Given the description of an element on the screen output the (x, y) to click on. 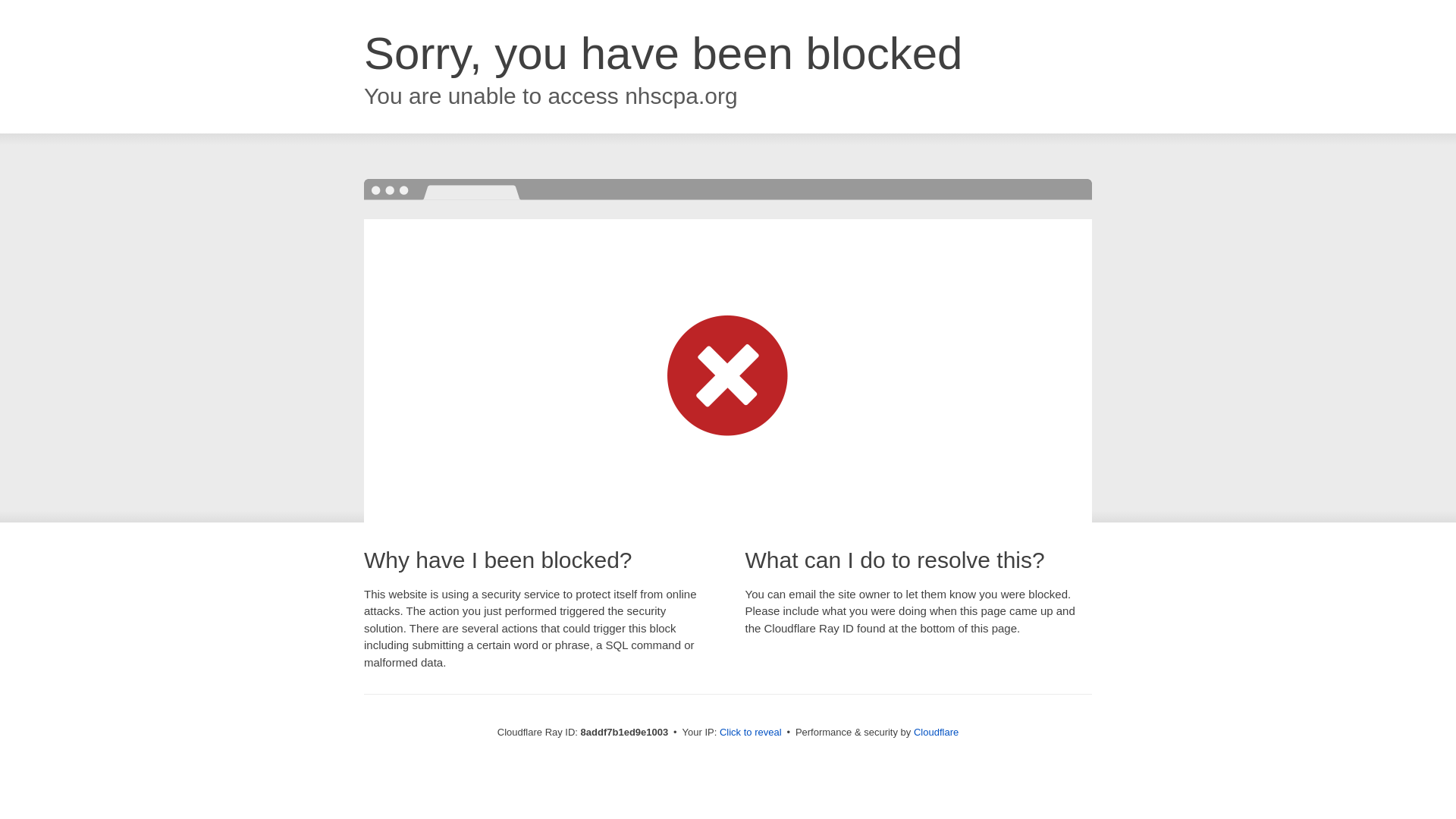
Cloudflare (936, 731)
Click to reveal (750, 732)
